Given the description of an element on the screen output the (x, y) to click on. 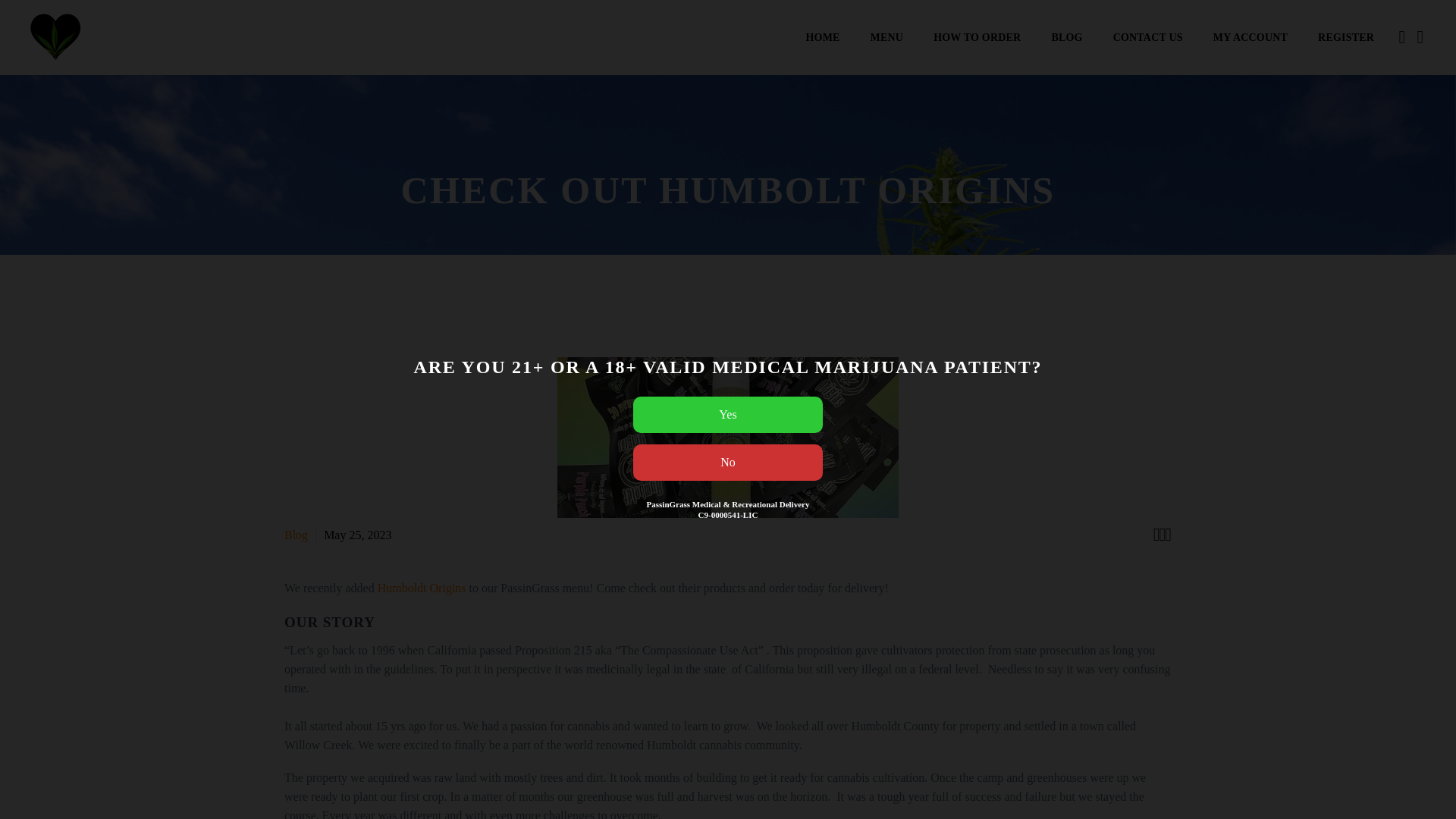
Yes (727, 414)
Blog (295, 534)
MY ACCOUNT (1250, 37)
No (727, 462)
REGISTER (1346, 37)
CONTACT US (1147, 37)
HOW TO ORDER (976, 37)
View all posts in Blog (295, 534)
Humboldt Origins (421, 587)
